Given the description of an element on the screen output the (x, y) to click on. 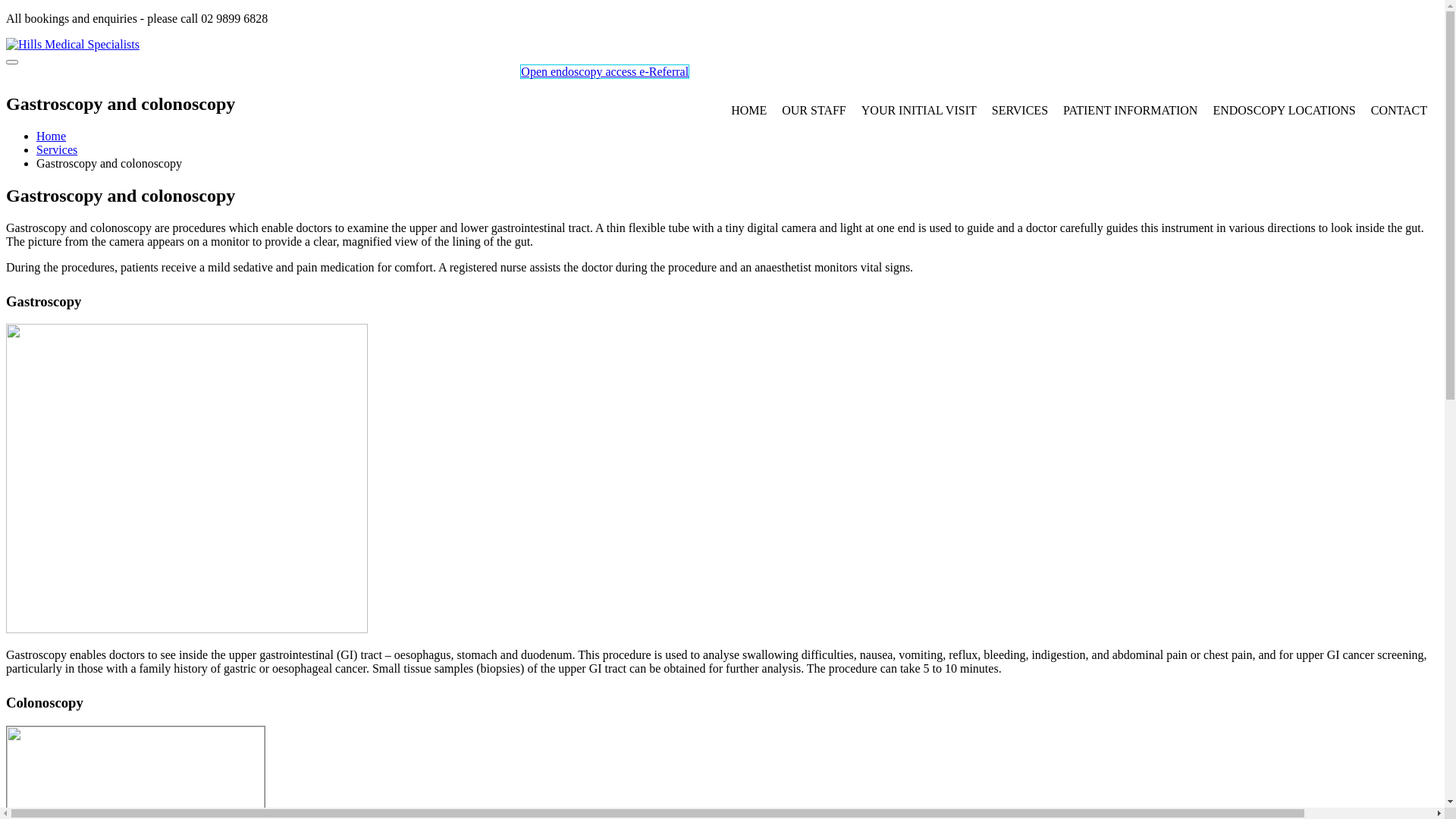
Home Element type: text (50, 135)
Services Element type: text (56, 149)
OUR STAFF Element type: text (814, 110)
SERVICES Element type: text (1019, 110)
PATIENT INFORMATION Element type: text (1130, 110)
Open endoscopy access e-Referral Element type: text (604, 71)
ENDOSCOPY LOCATIONS Element type: text (1283, 110)
CONTACT Element type: text (1398, 110)
HOME Element type: text (748, 110)
YOUR INITIAL VISIT Element type: text (918, 110)
